Given the description of an element on the screen output the (x, y) to click on. 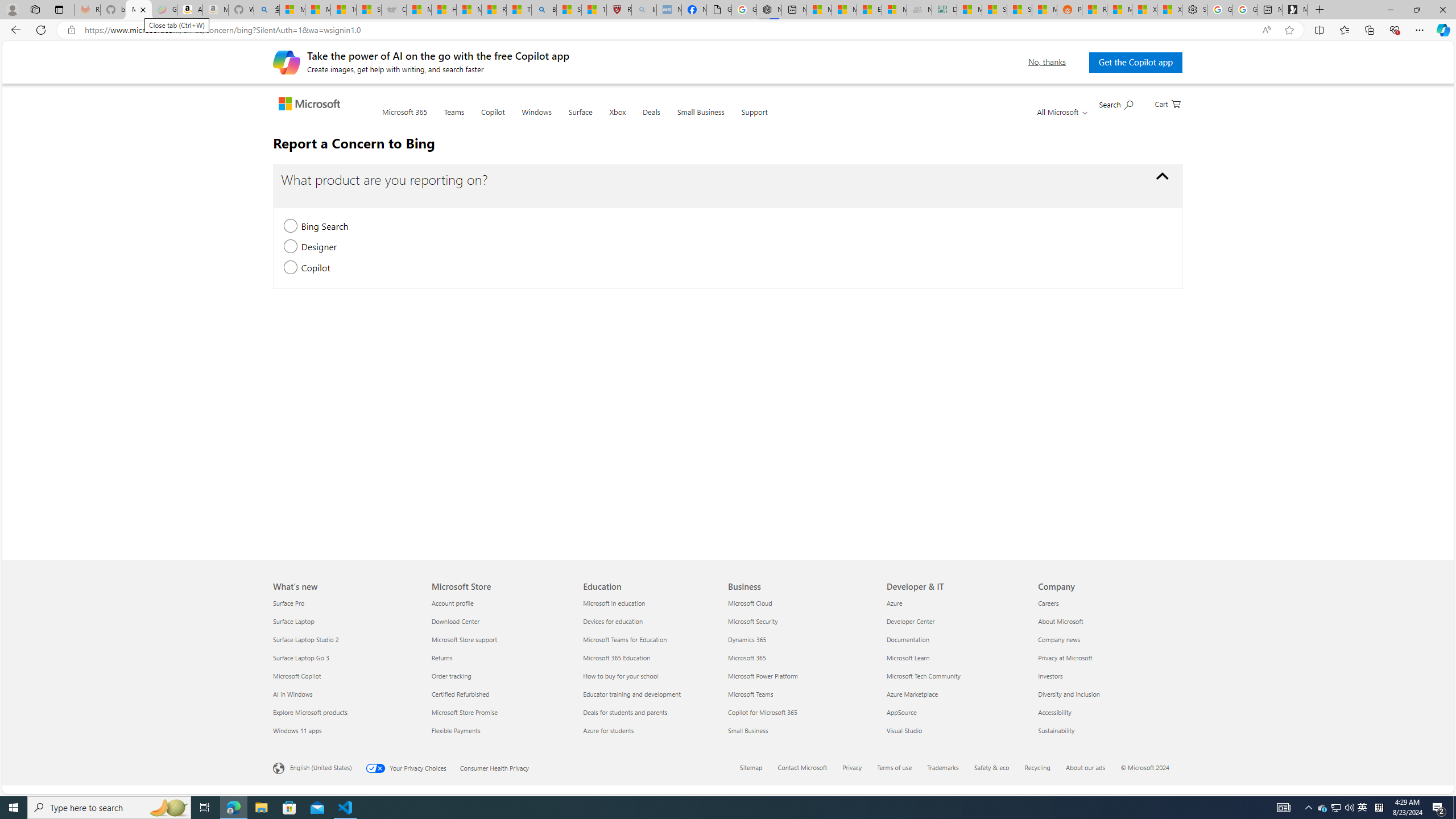
Your Privacy Choices Opt-Out Icon Your Privacy Choices (412, 766)
12 Popular Science Lies that Must be Corrected (593, 9)
Search Microsoft.com (1115, 103)
About our ads (1092, 768)
Microsoft Tech Community Developer & IT (923, 675)
Microsoft 365 Education (651, 657)
Flexible Payments Microsoft Store (455, 729)
Microsoft Store Promise (499, 711)
Investors (1107, 675)
Certified Refurbished Microsoft Store (459, 693)
Microsoft Teams Business (750, 693)
